Given the description of an element on the screen output the (x, y) to click on. 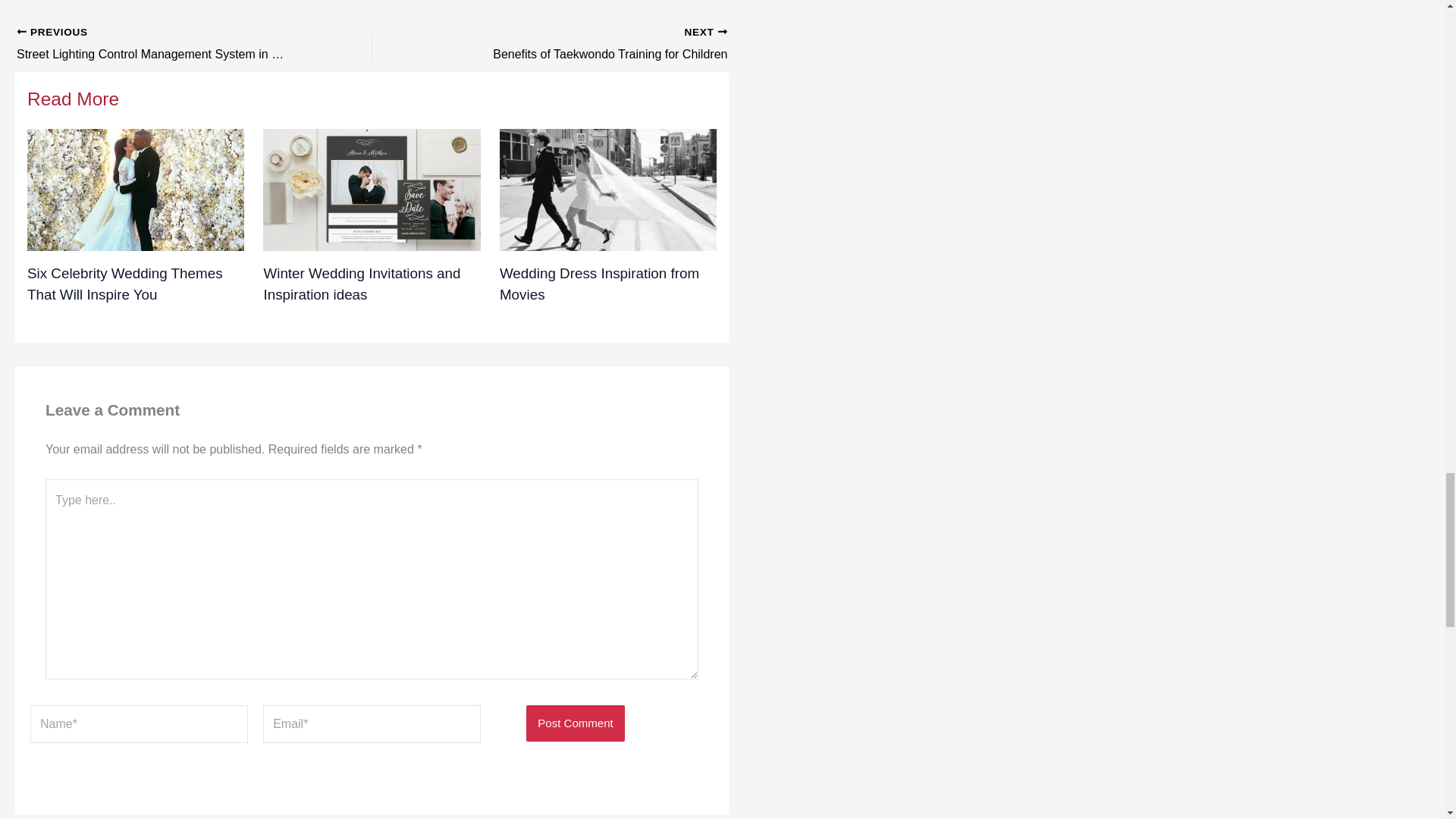
Street Lighting Control Management System in the Middle East (159, 44)
Benefits of Taekwondo Training for Children (585, 44)
Post Comment (574, 723)
